Given the description of an element on the screen output the (x, y) to click on. 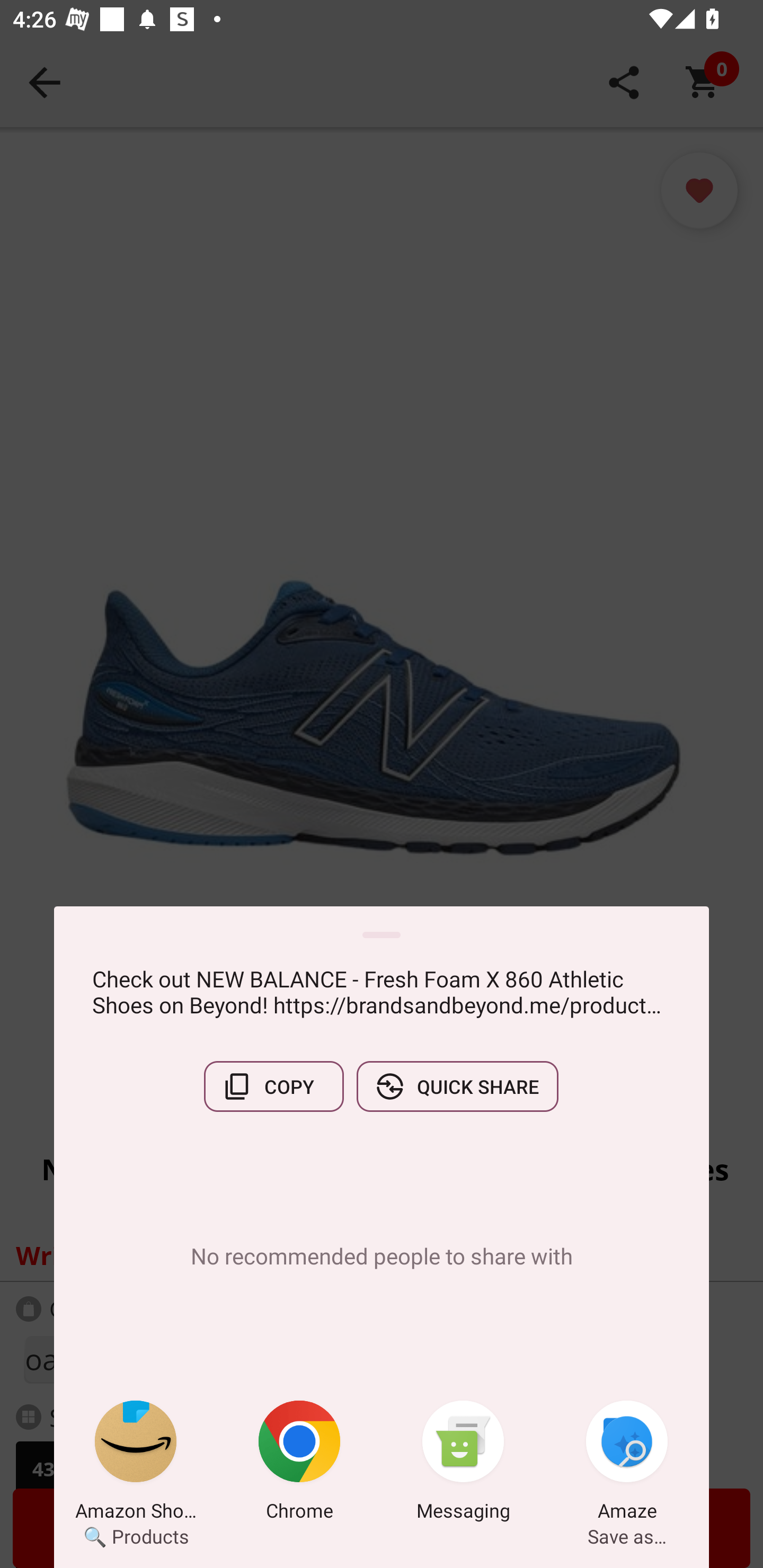
COPY (273, 1086)
QUICK SHARE (457, 1086)
Amazon Shopping 🔍 Products (135, 1463)
Chrome (299, 1463)
Messaging (463, 1463)
Amaze Save as… (626, 1463)
